Given the description of an element on the screen output the (x, y) to click on. 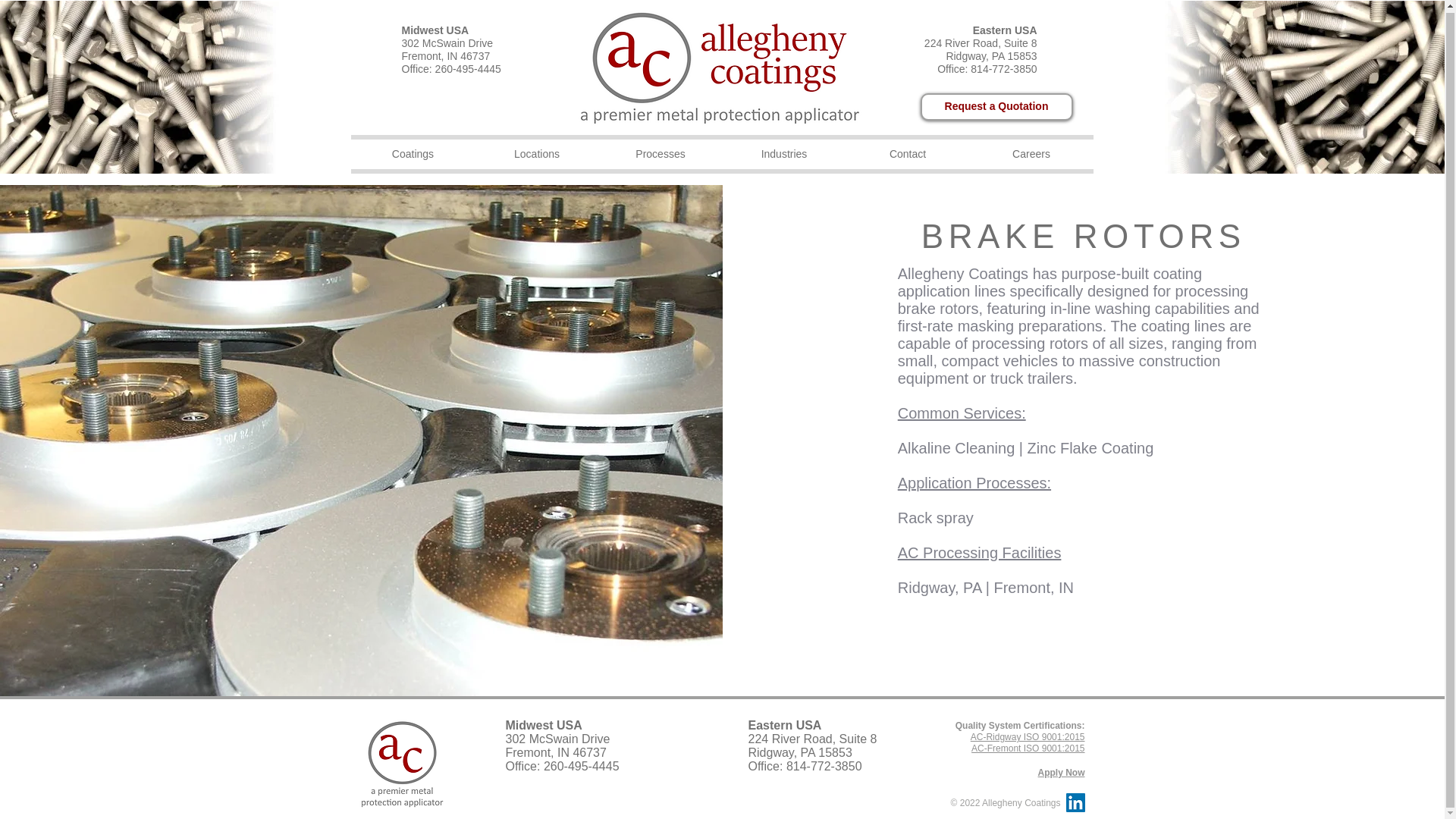
Coatings (412, 153)
Industries (783, 153)
Careers (1031, 153)
Processes (660, 153)
Contact (907, 153)
Request a Quotation (996, 106)
Locations (536, 153)
Rack spray (936, 517)
AC-Ridgway ISO 9001:2015 (1027, 737)
Apply Now (1060, 772)
